Given the description of an element on the screen output the (x, y) to click on. 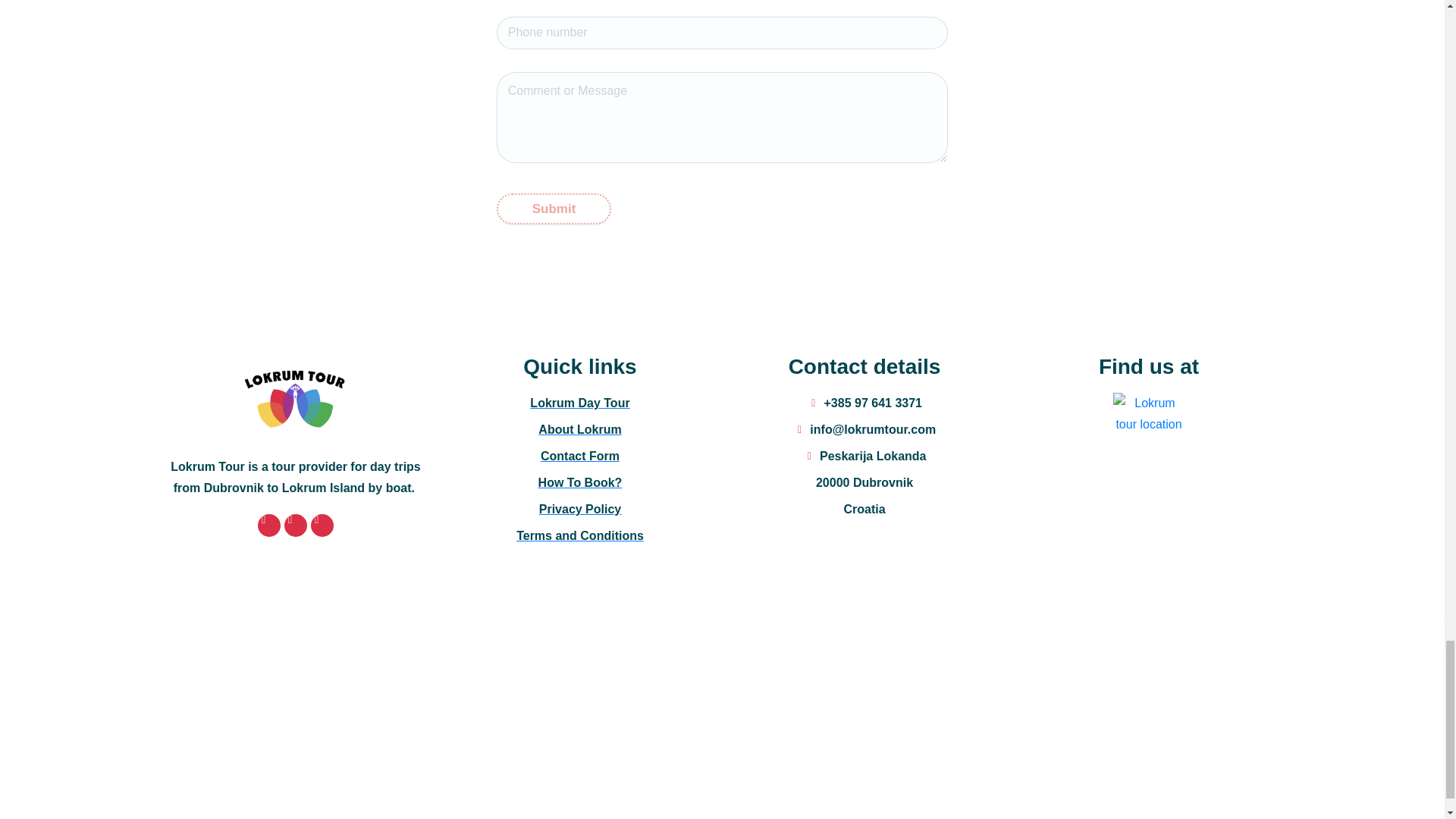
About Lokrum (579, 429)
How To Book? (579, 482)
Contact Form (579, 455)
Peskarija Lokanda (863, 455)
Privacy Policy (579, 509)
Submit (553, 208)
Lokrum Day Tour (579, 403)
Terms and Conditions (579, 536)
